Given the description of an element on the screen output the (x, y) to click on. 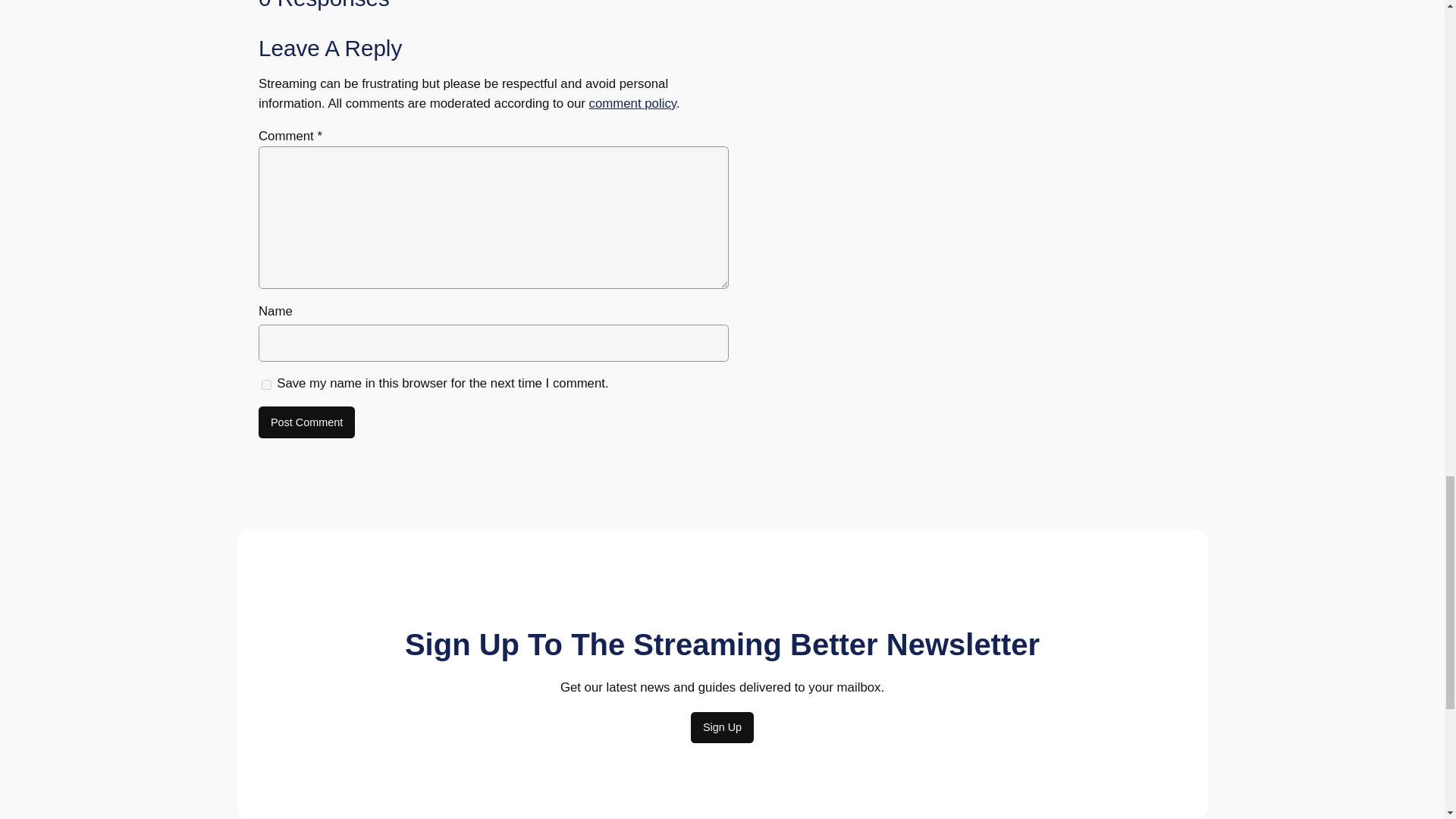
yes (266, 384)
Post Comment (307, 422)
